Given the description of an element on the screen output the (x, y) to click on. 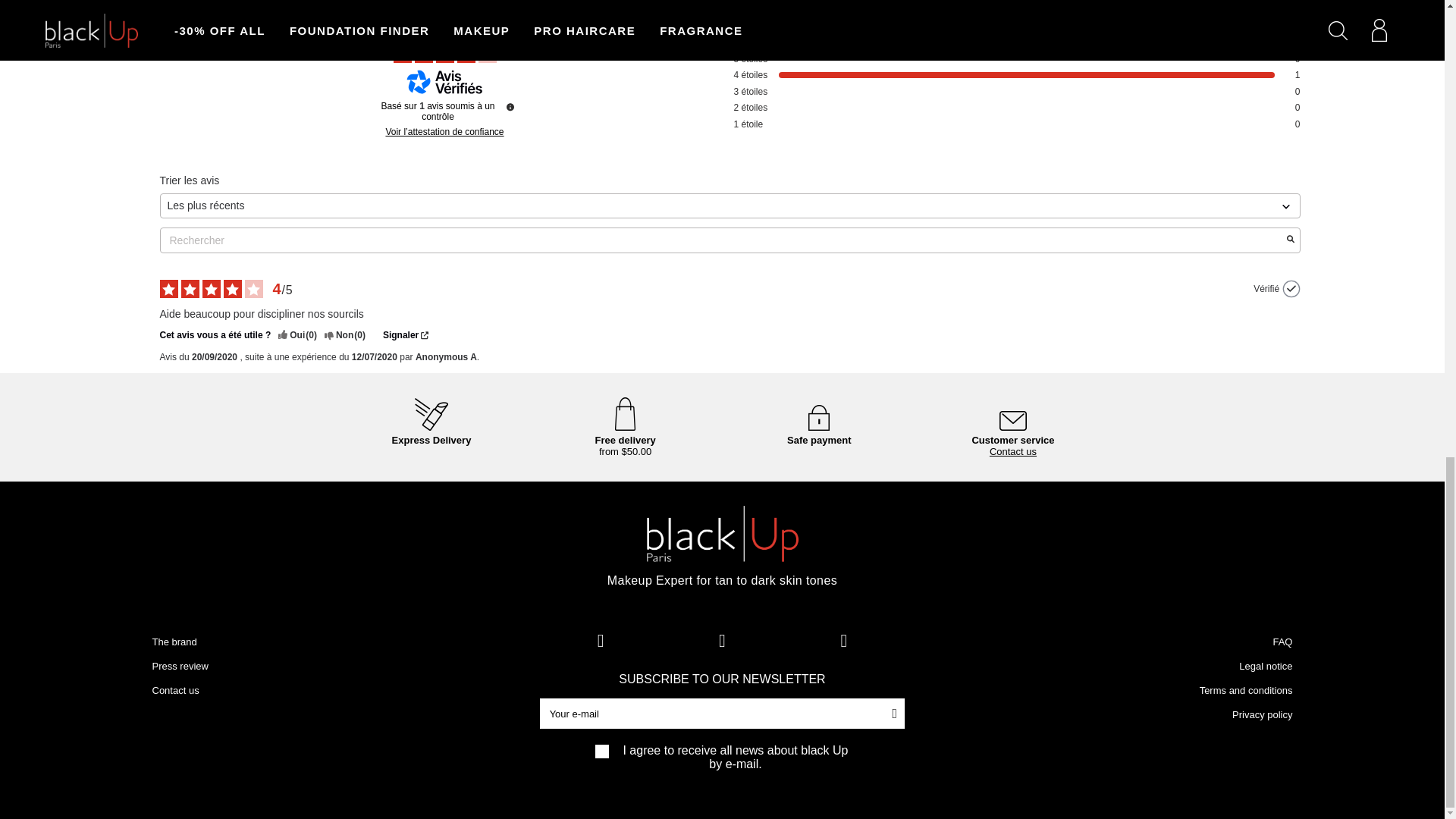
Privacy policy (1261, 714)
The brand (173, 641)
Contact us (1013, 456)
Legal notice (1265, 665)
FAQ (1282, 641)
Signaler (405, 335)
Press review (179, 665)
Contact us (174, 690)
Terms and conditions (1245, 690)
